Given the description of an element on the screen output the (x, y) to click on. 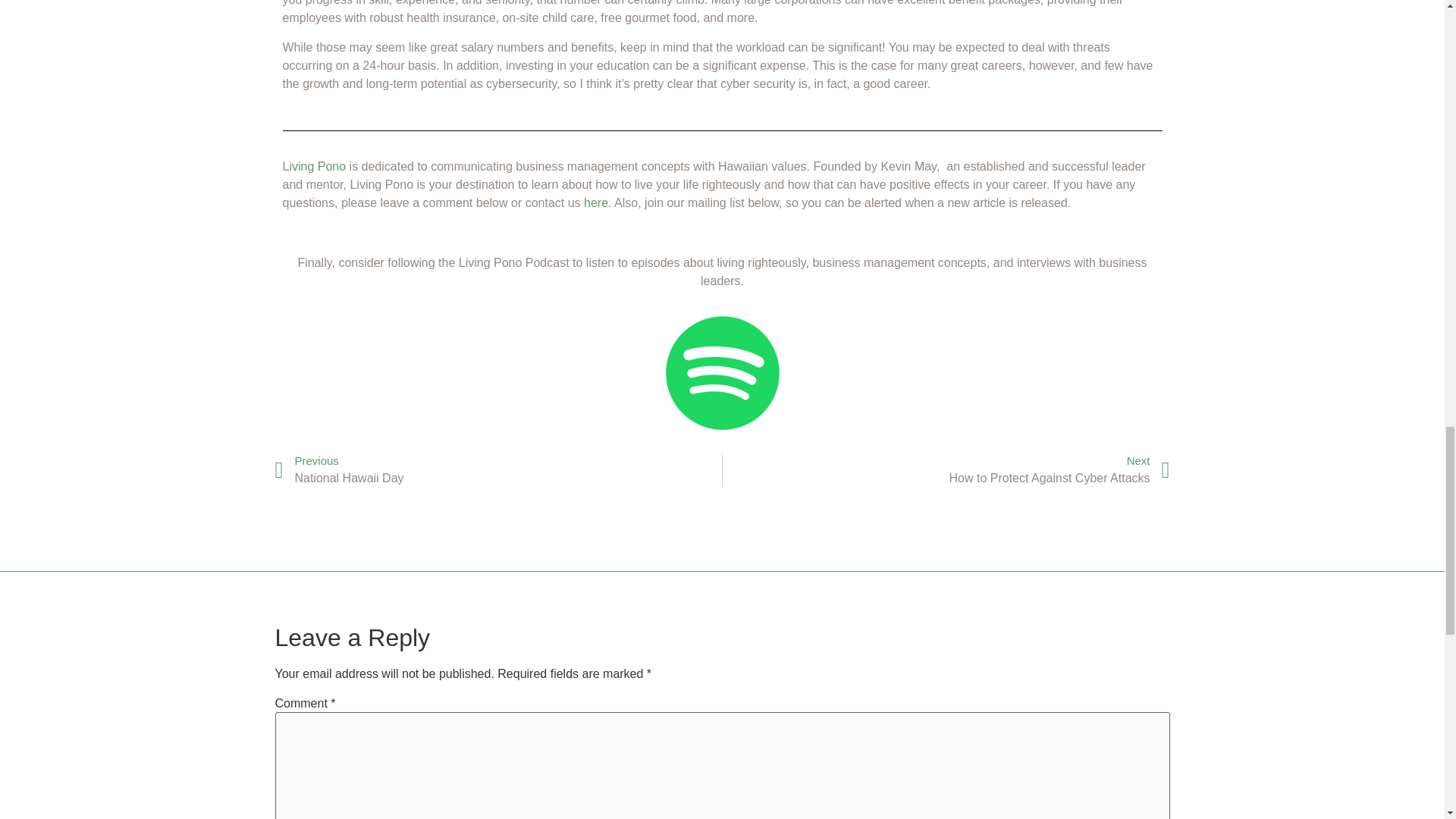
ving Pono (319, 165)
here (595, 202)
